Given the description of an element on the screen output the (x, y) to click on. 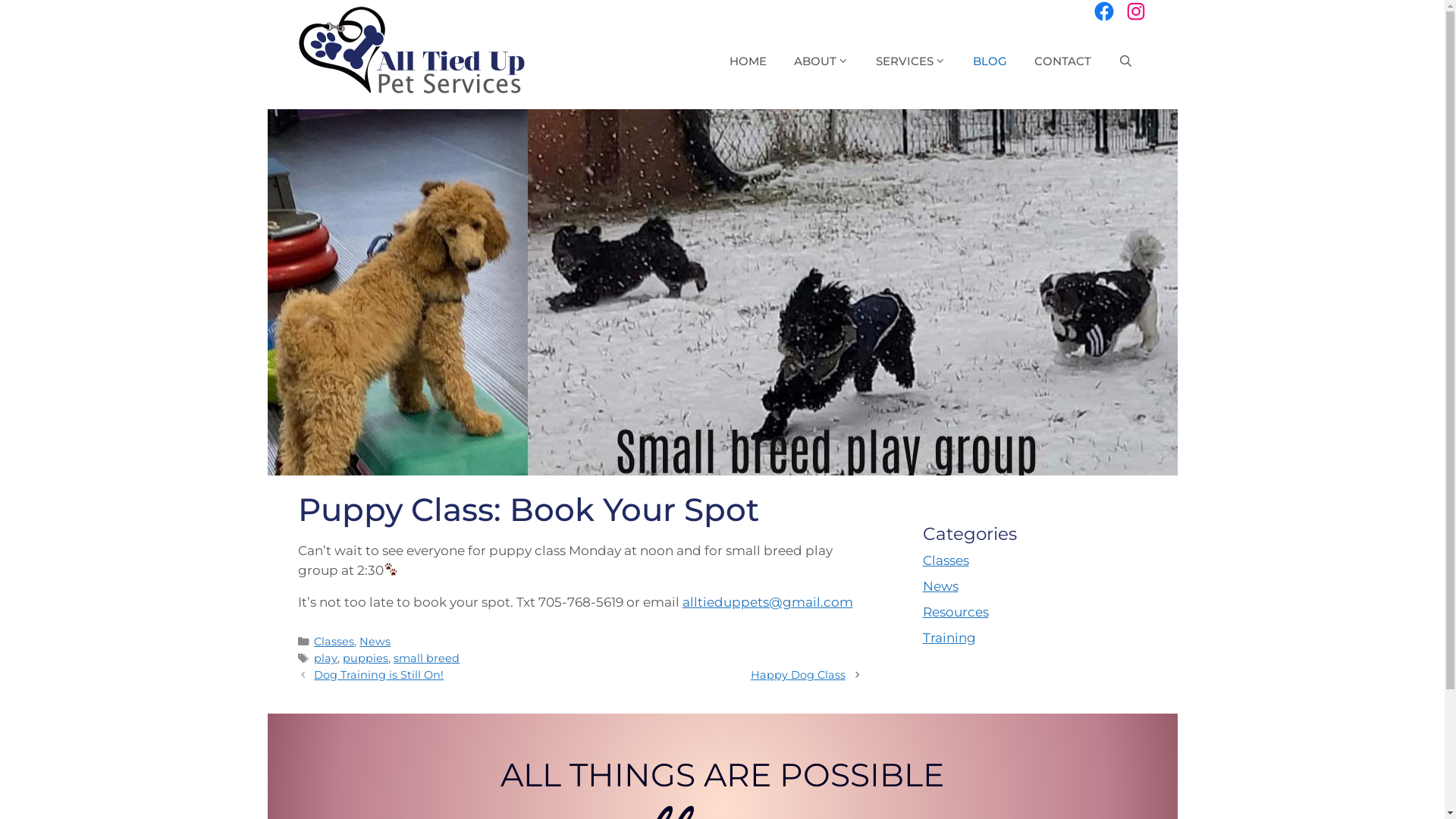
News Element type: text (939, 585)
Dog Training is Still On! Element type: text (378, 674)
Happy Dog Class Element type: text (797, 674)
play Element type: text (325, 658)
ABOUT Element type: text (821, 61)
SERVICES Element type: text (910, 61)
Resources Element type: text (955, 611)
News Element type: text (374, 641)
Classes Element type: text (333, 641)
puppies Element type: text (365, 658)
Training Element type: text (948, 637)
BLOG Element type: text (989, 61)
Facebook Element type: text (1103, 11)
Instagram Element type: text (1134, 11)
alltieduppets@gmail.com Element type: text (767, 601)
small breed Element type: text (426, 658)
CONTACT Element type: text (1062, 61)
Classes Element type: text (945, 559)
HOME Element type: text (747, 61)
